Given the description of an element on the screen output the (x, y) to click on. 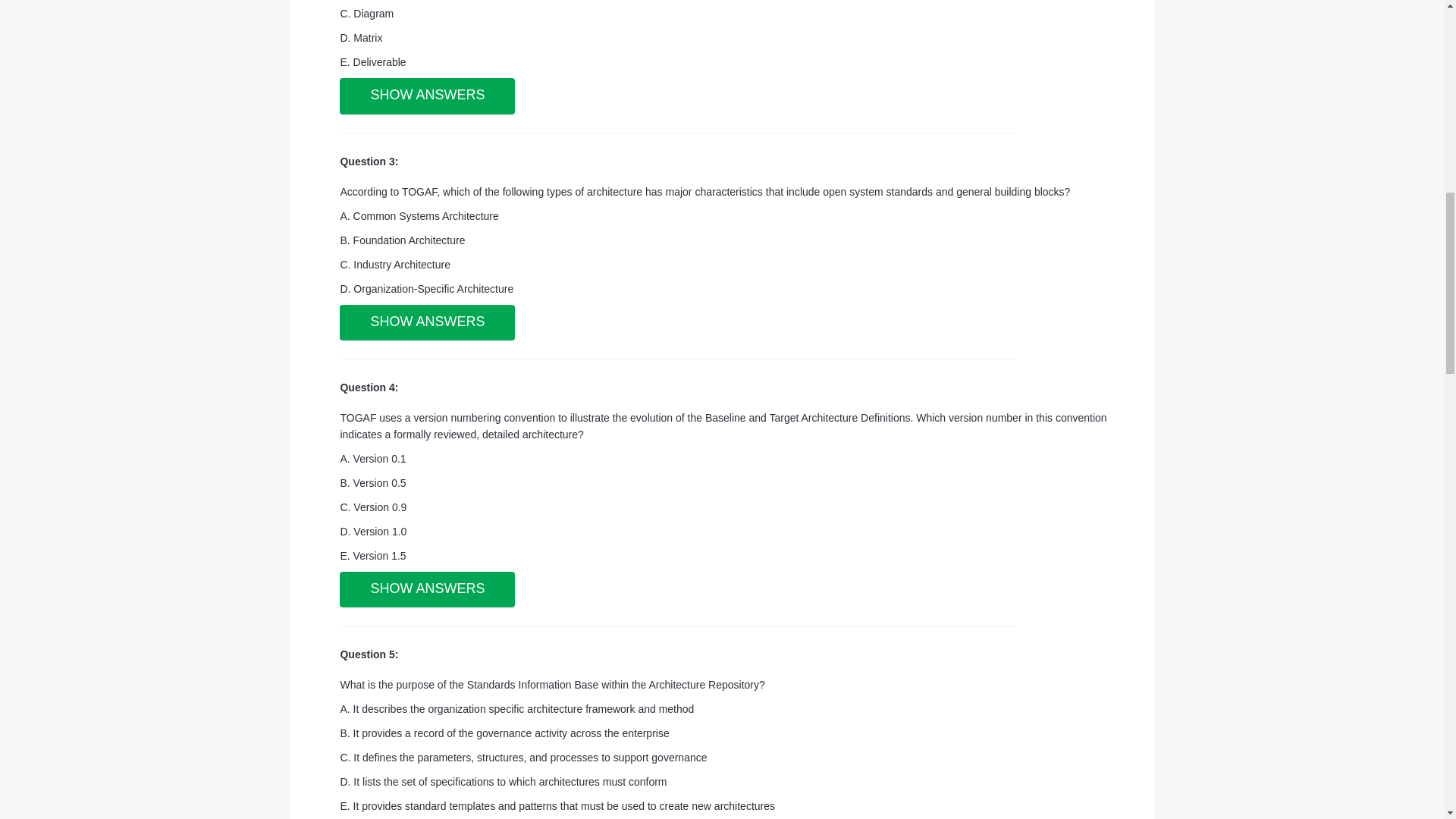
SHOW ANSWERS (427, 322)
SHOW ANSWERS (427, 95)
SHOW ANSWERS (427, 589)
